Given the description of an element on the screen output the (x, y) to click on. 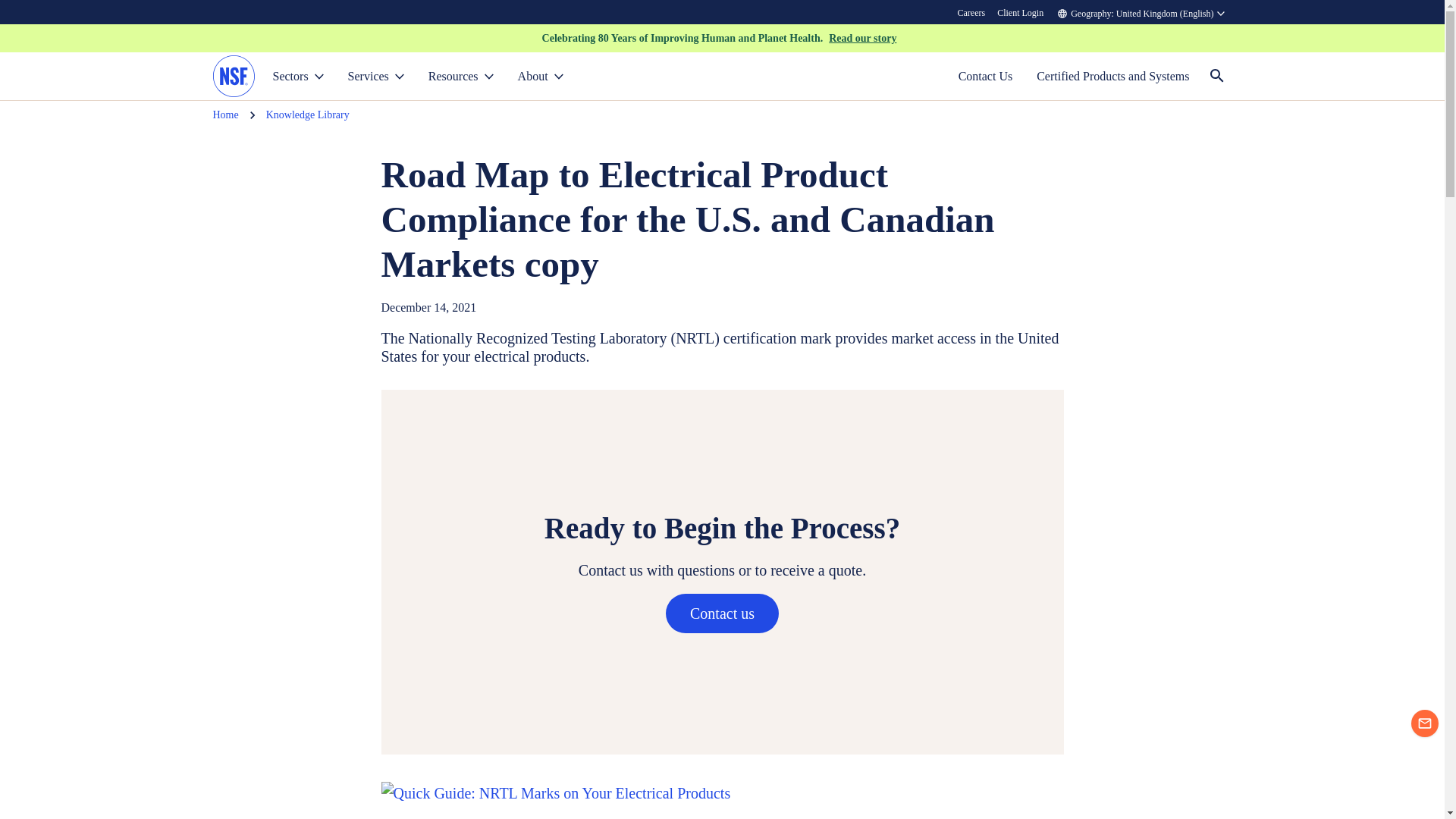
Resources (460, 75)
About (540, 75)
Services (376, 75)
Careers (971, 12)
Contact Us (985, 75)
Certified Products and Systems (1113, 75)
Contact us (721, 613)
Home (225, 114)
Knowledge Library (307, 114)
Read our story (862, 37)
